Given the description of an element on the screen output the (x, y) to click on. 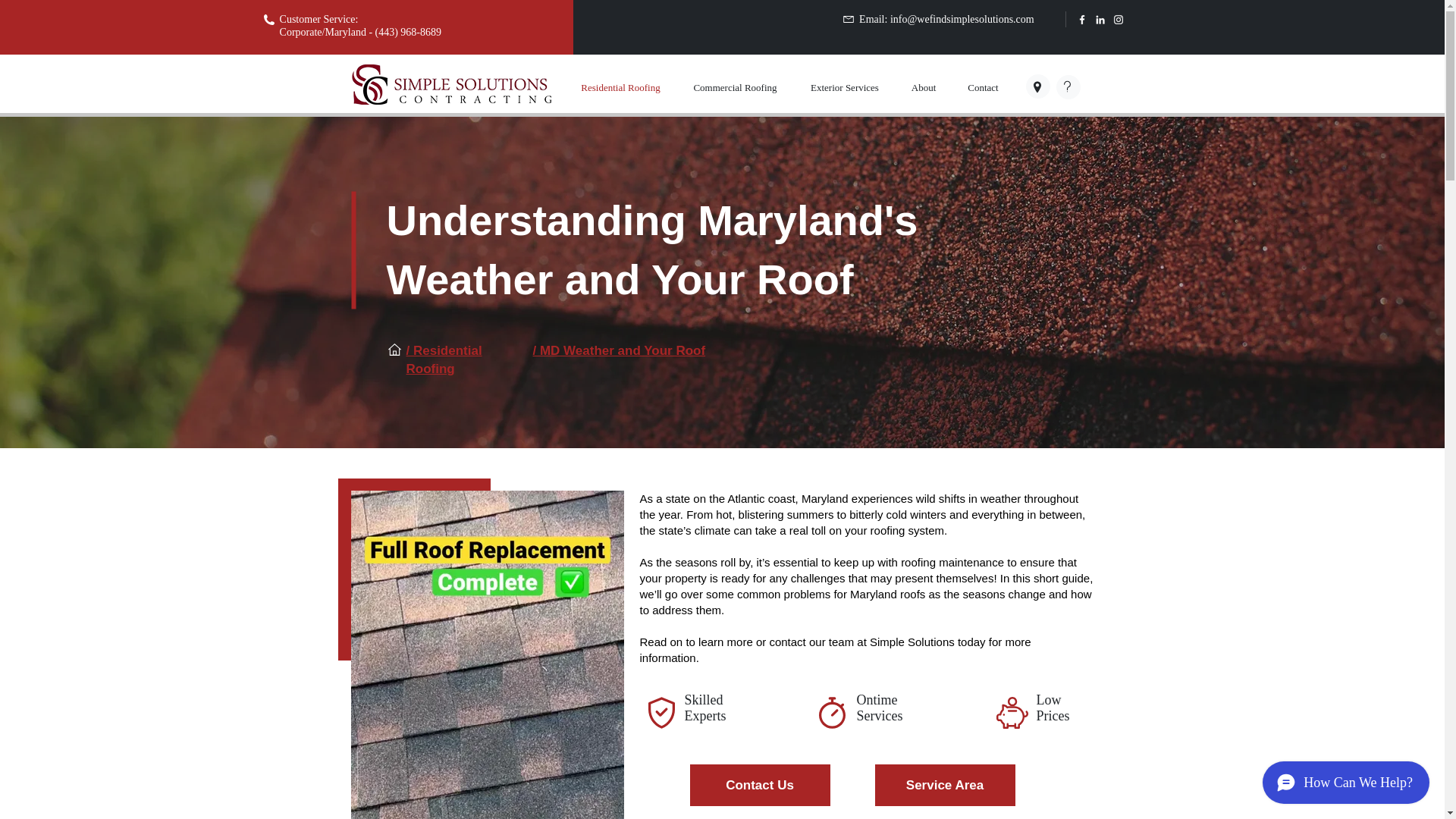
About (924, 87)
Go to Home (475, 99)
Residential Roofing (620, 87)
Exterior Services (844, 87)
Go to Home (368, 84)
Customer Service:  (320, 19)
Commercial Roofing (735, 87)
Go to Home (469, 83)
